Given the description of an element on the screen output the (x, y) to click on. 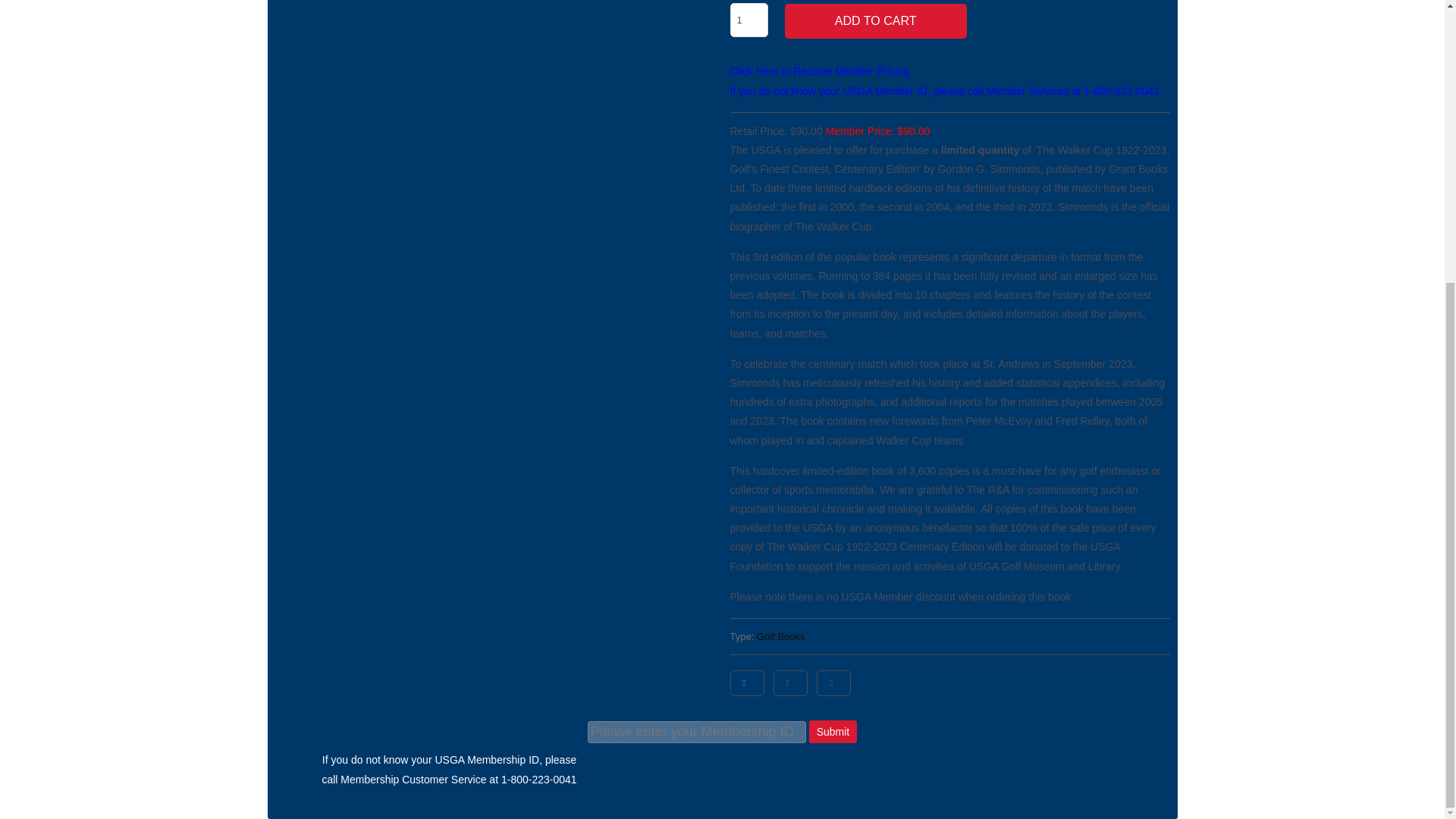
1 (748, 19)
Golf Books (781, 636)
ADD TO CART (875, 21)
Click Here to Receive Member Pricing (818, 70)
